Given the description of an element on the screen output the (x, y) to click on. 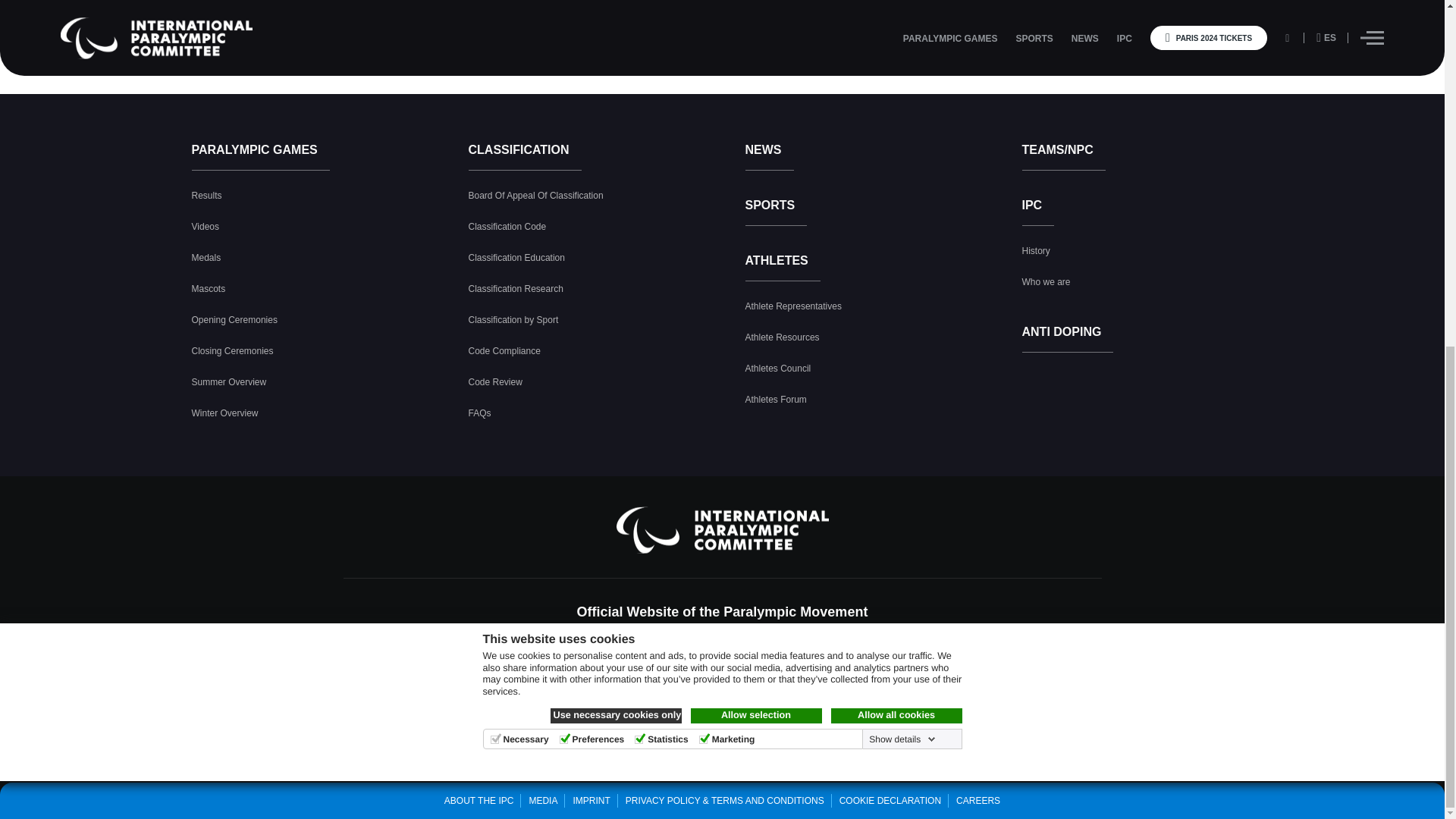
Allow selection (755, 119)
Use necessary cookies only (615, 119)
Allow all cookies (896, 119)
Show details (900, 143)
